Given the description of an element on the screen output the (x, y) to click on. 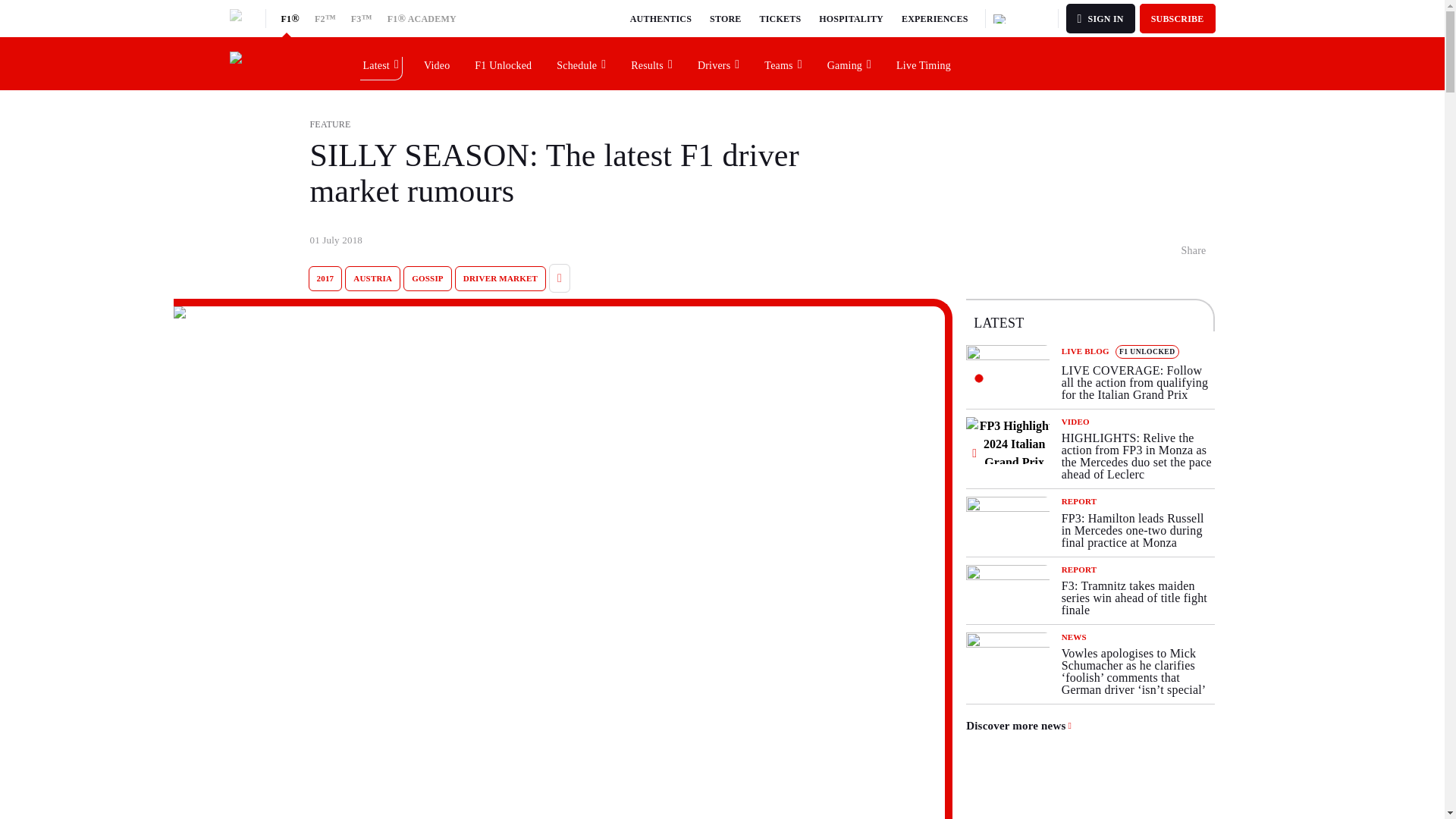
DRIVER MARKET (500, 278)
Discover more news (1018, 725)
Teams (782, 63)
TICKETS (781, 18)
2017 (324, 278)
Results (651, 63)
EXPERIENCES (934, 18)
SIGN IN (1100, 18)
GOSSIP (427, 278)
